Given the description of an element on the screen output the (x, y) to click on. 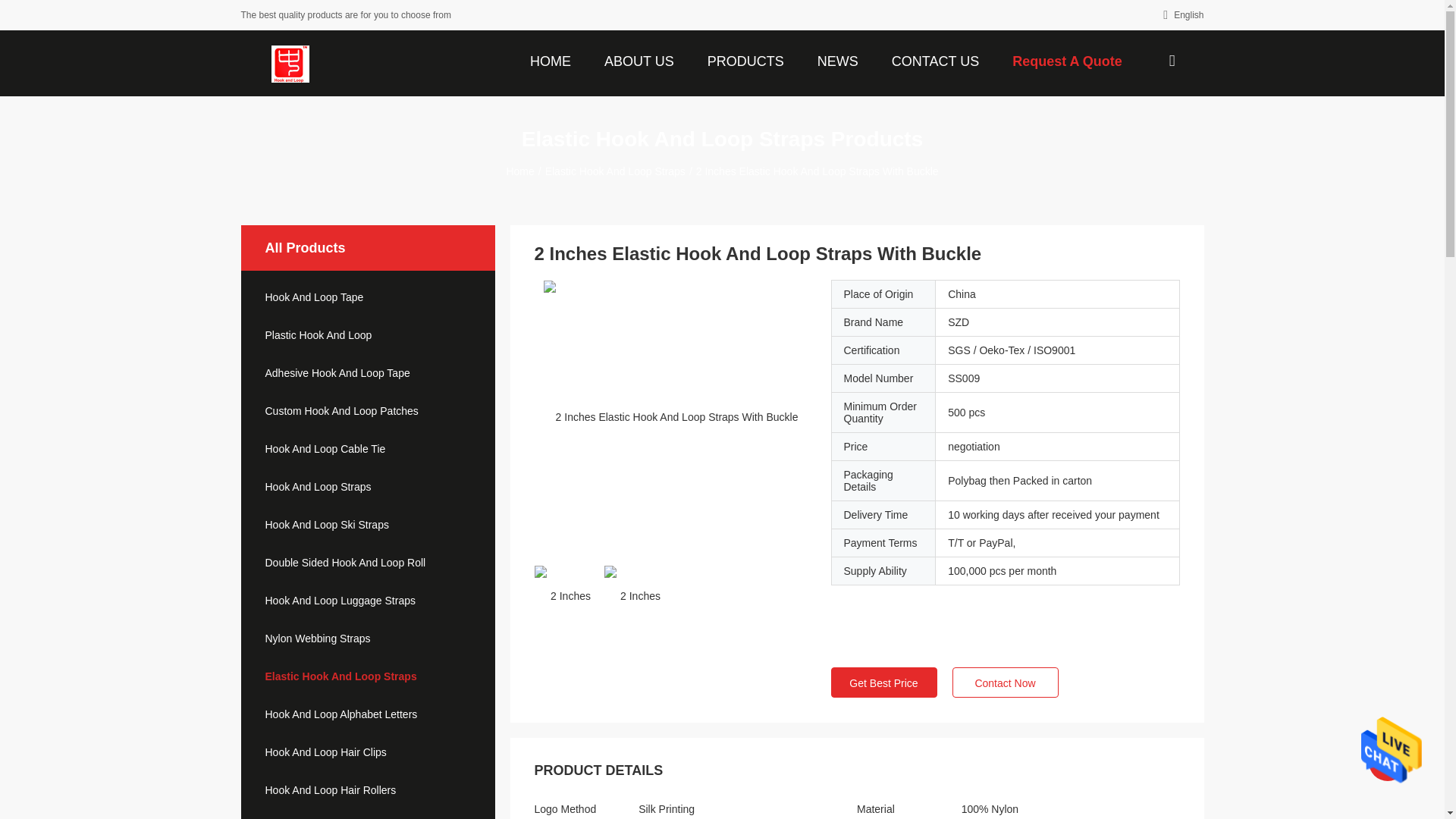
PRODUCTS (745, 60)
HOME (550, 60)
About Us (638, 60)
Home (550, 60)
ABOUT US (638, 60)
NEWS (837, 60)
